Given the description of an element on the screen output the (x, y) to click on. 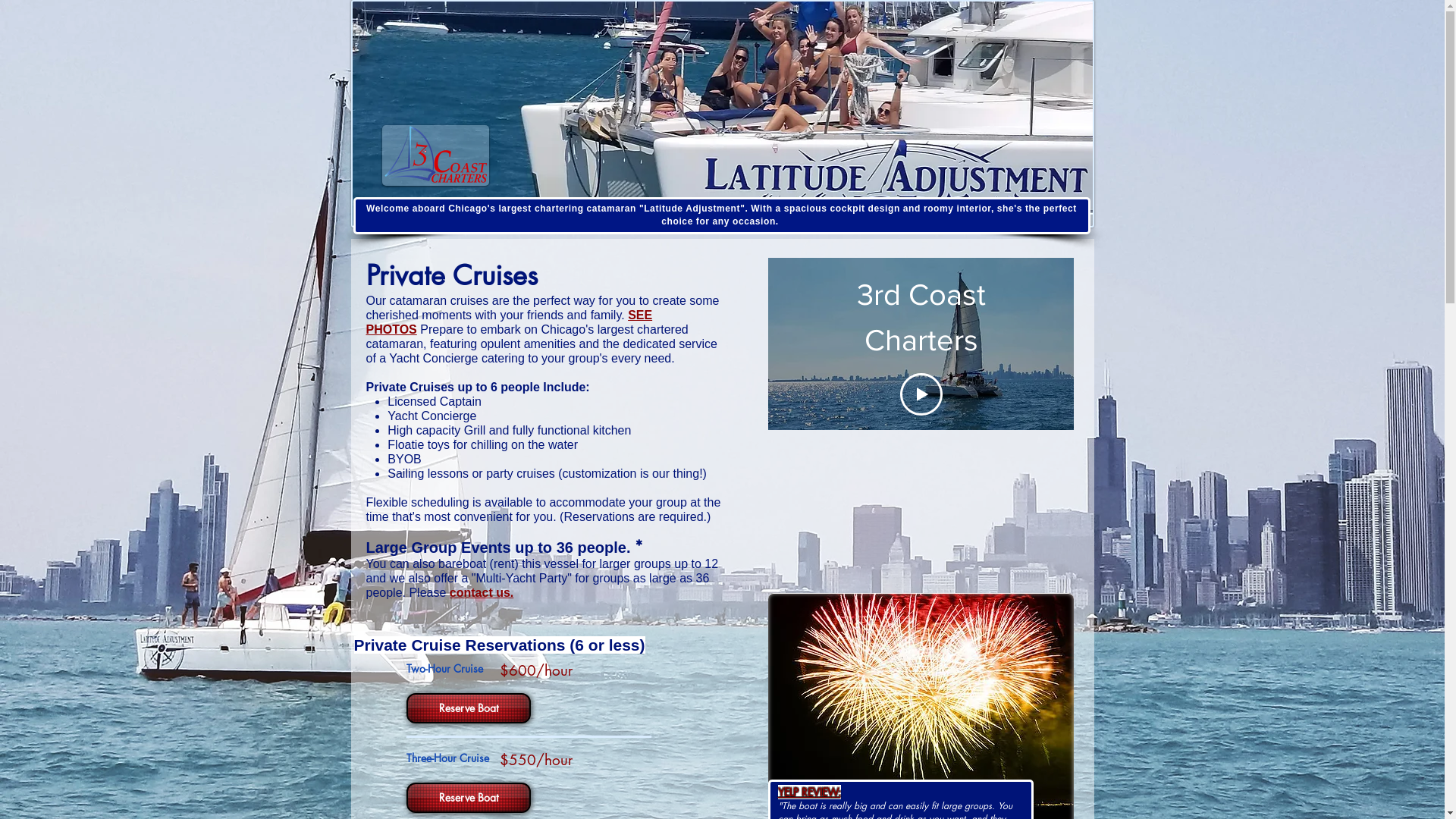
Reserve Boat Element type: text (466, 797)
YELP REVIEW: Element type: text (809, 792)
contact us. Element type: text (481, 592)
Reserve Boat Element type: text (466, 708)
SEE PHOTOS Element type: text (508, 321)
logo transparent.png Element type: hover (435, 155)
